Given the description of an element on the screen output the (x, y) to click on. 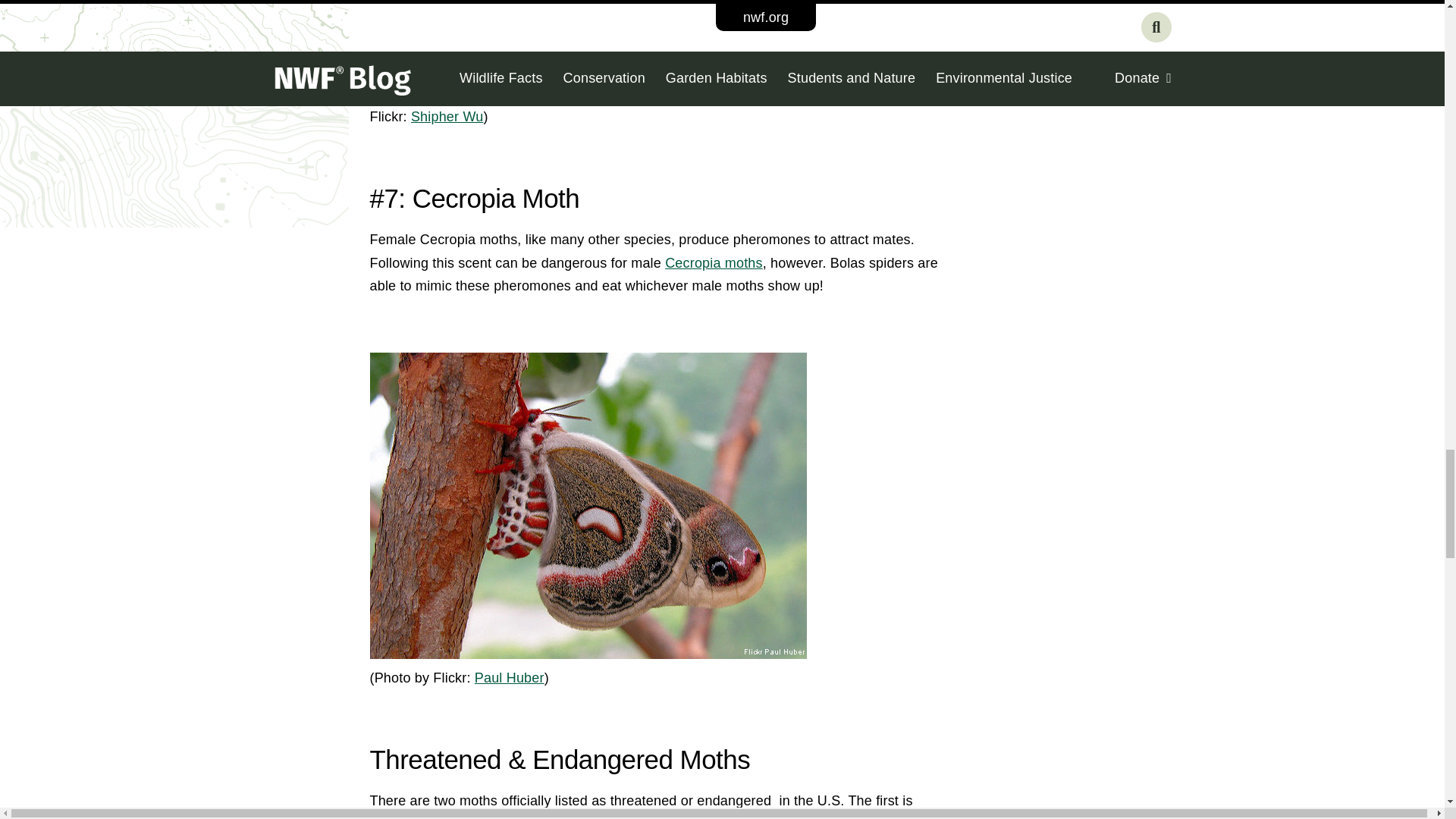
Shipher Wu (446, 116)
Kern Primrose Sphinx (460, 817)
Paul Huber (509, 677)
Cecropia moths (713, 263)
